Given the description of an element on the screen output the (x, y) to click on. 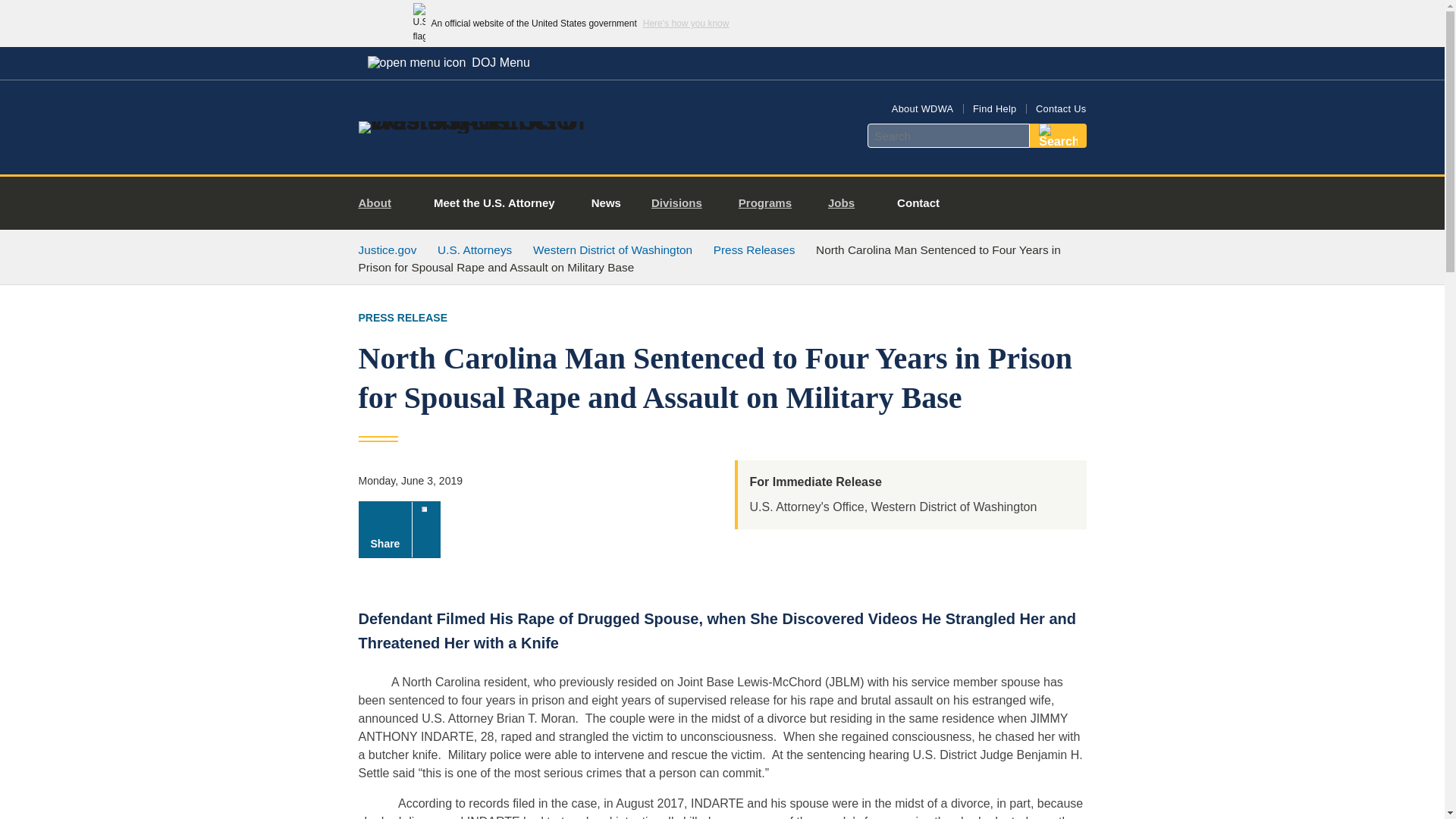
Here's how you know (686, 23)
News (606, 203)
About WDWA (922, 108)
Western District of Washington (612, 249)
Programs (770, 203)
Contact (918, 203)
Press Releases (753, 249)
Justice.gov (387, 249)
Meet the U.S. Attorney (493, 203)
Share (398, 529)
About (380, 203)
Divisions (682, 203)
Contact Us (1060, 108)
Jobs (847, 203)
Find Help (994, 108)
